Given the description of an element on the screen output the (x, y) to click on. 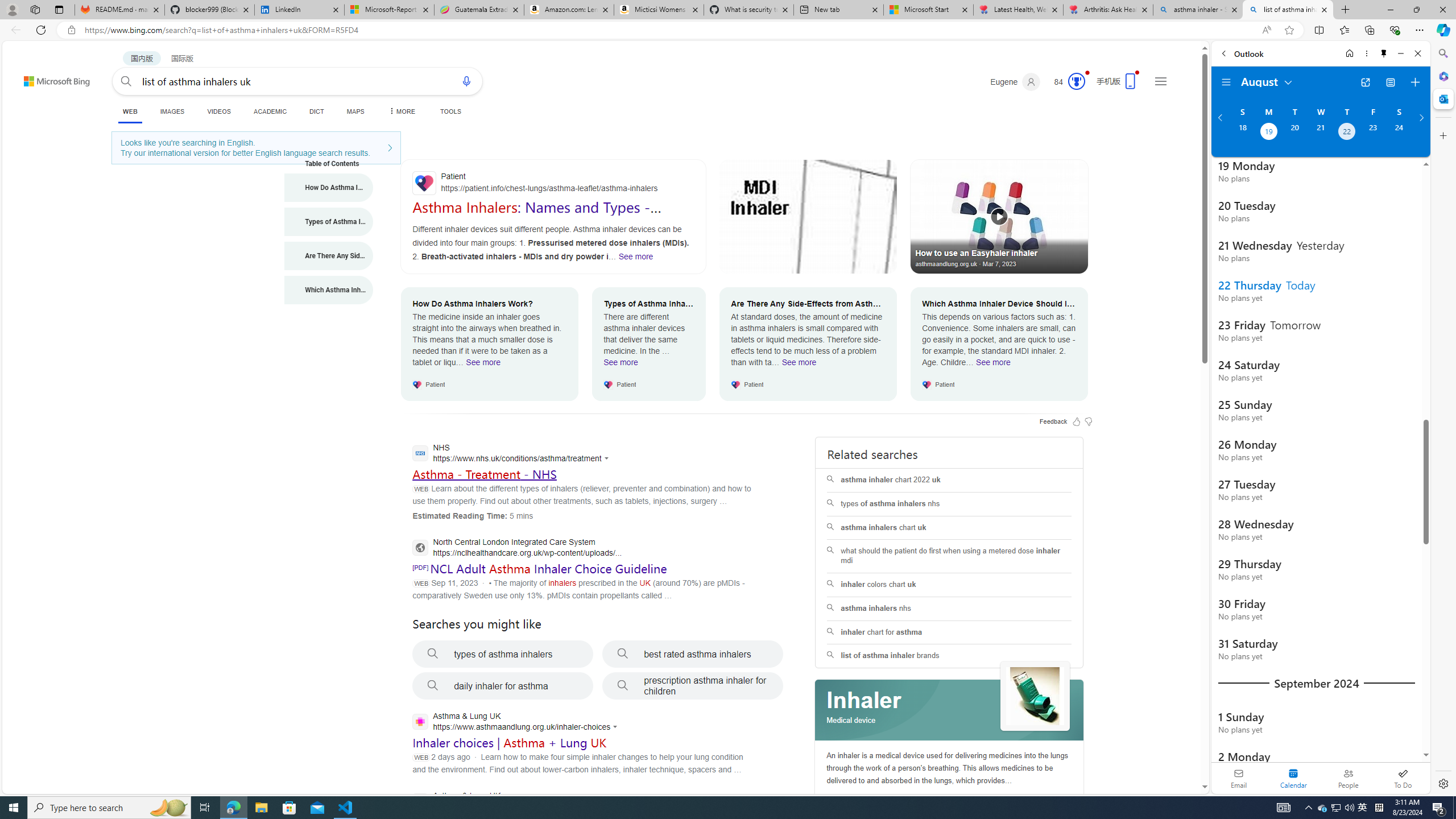
LinkedIn (298, 9)
AutomationID: rh_meter (1076, 80)
View Switcher. Current view is Agenda view (1390, 82)
best rated asthma inhalers (692, 653)
types of asthma inhalers (503, 653)
AutomationID: serp_medal_svg (1076, 81)
Friday, August 23, 2024.  (1372, 132)
Are There Any Side-Effects from Asthma Inhalers? (328, 255)
IMAGES (172, 111)
North Central London Integrated Care System (516, 549)
